Given the description of an element on the screen output the (x, y) to click on. 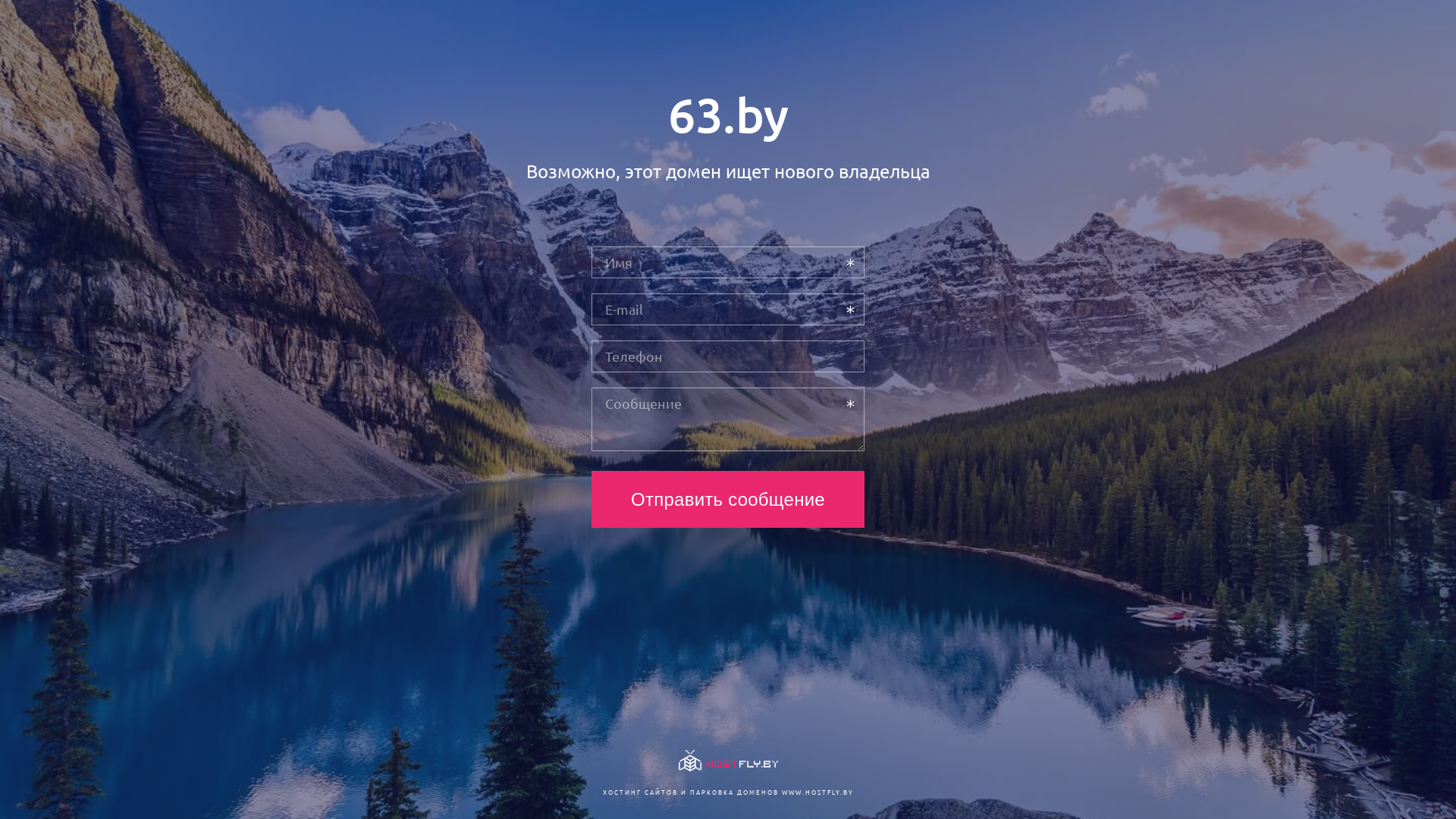
WWW.HOSTFLY.BY Element type: text (817, 791)
